Given the description of an element on the screen output the (x, y) to click on. 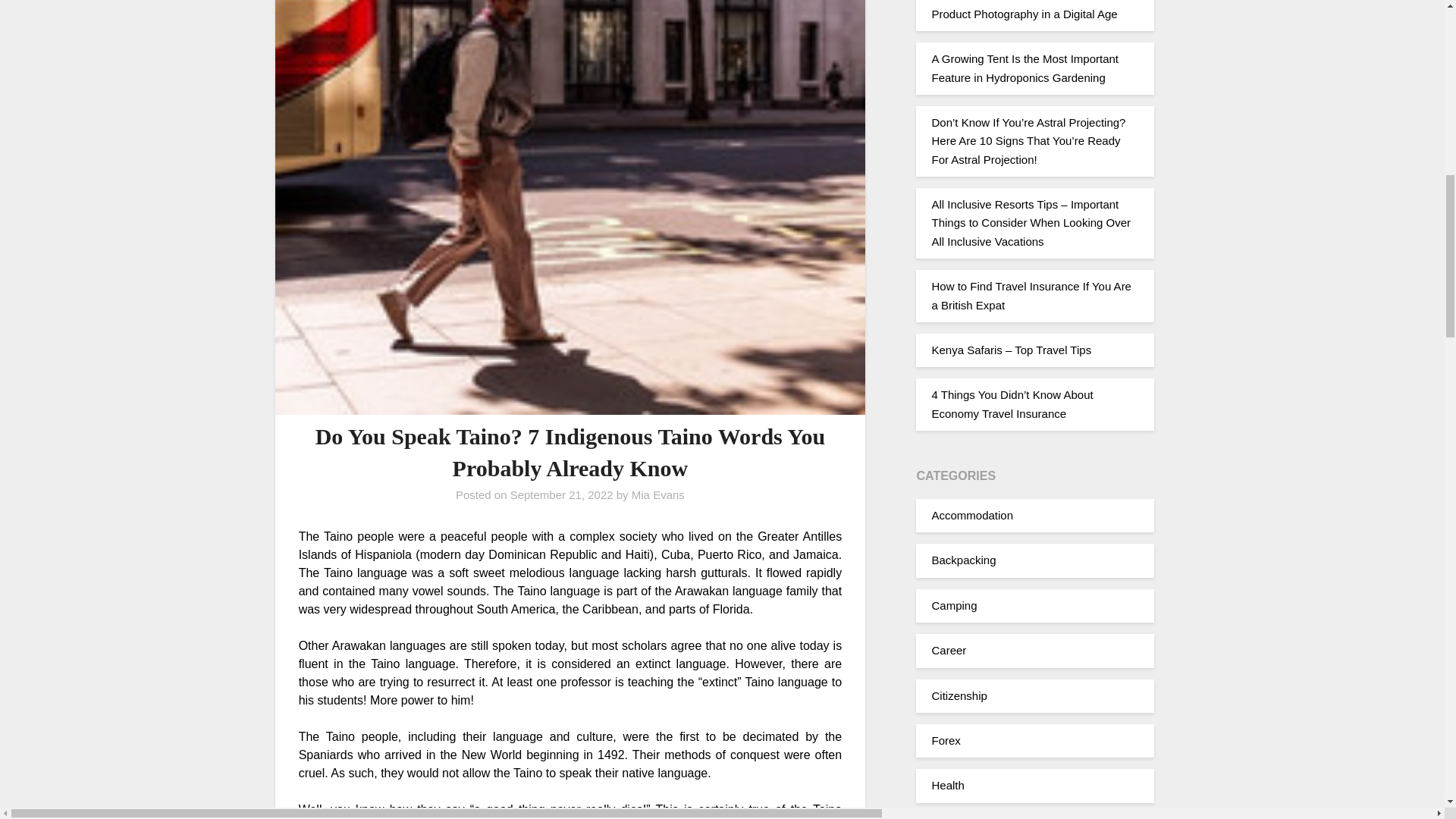
Product Photography in a Digital Age (1023, 13)
Backpacking (963, 559)
How to Find Travel Insurance If You Are a British Expat (1031, 295)
Accommodation (972, 514)
Career (948, 649)
Health (947, 784)
Forex (945, 739)
Mia Evans (657, 494)
